Given the description of an element on the screen output the (x, y) to click on. 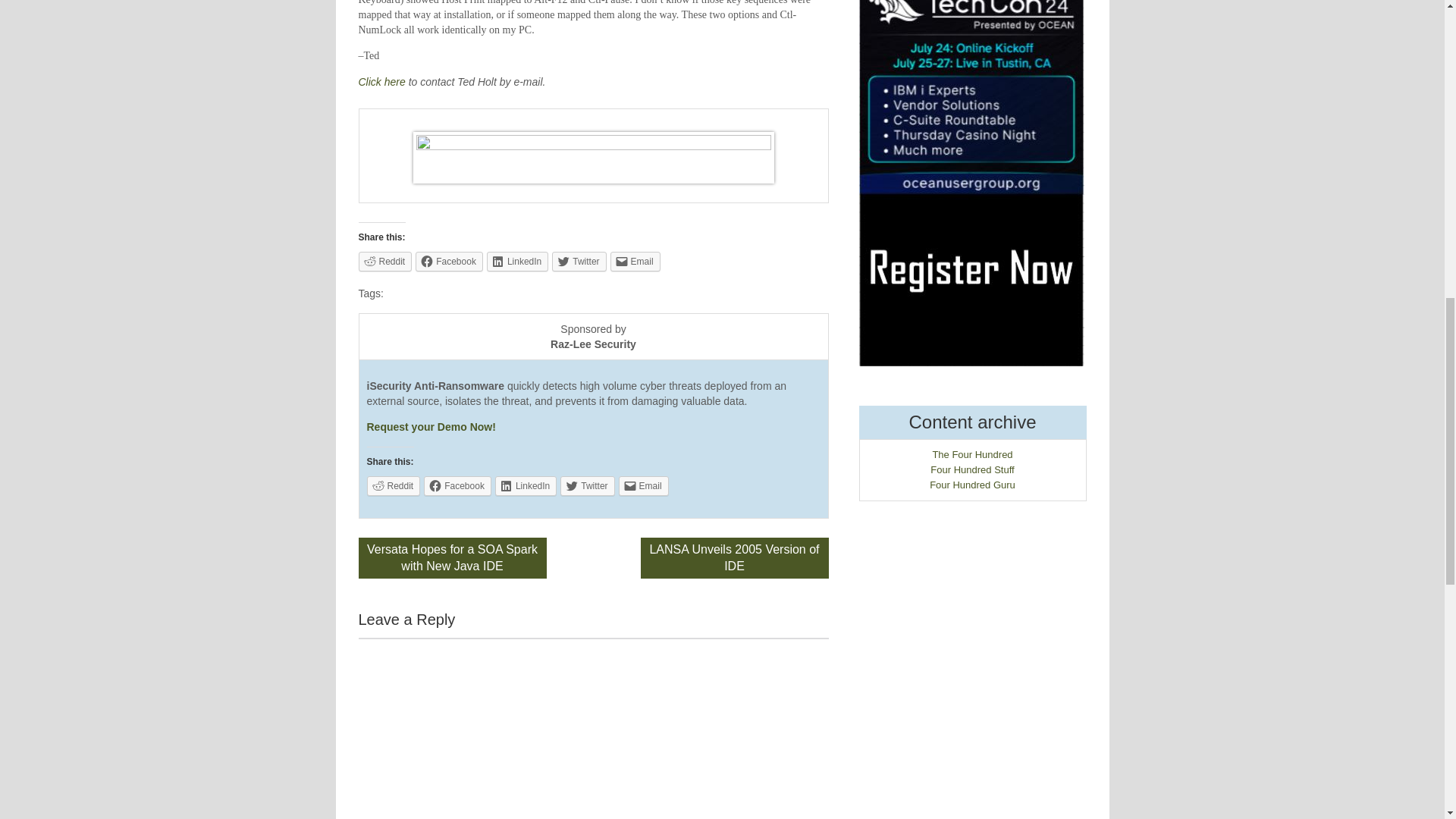
Email (643, 485)
Comment Form (593, 728)
Click here (381, 81)
Request your Demo Now! (431, 426)
Click to share on Facebook (448, 261)
Reddit (393, 485)
LANSA Unveils 2005 Version of IDE (734, 557)
Click to share on LinkedIn (525, 485)
Click to share on Facebook (457, 485)
Click to share on Reddit (385, 261)
